Given the description of an element on the screen output the (x, y) to click on. 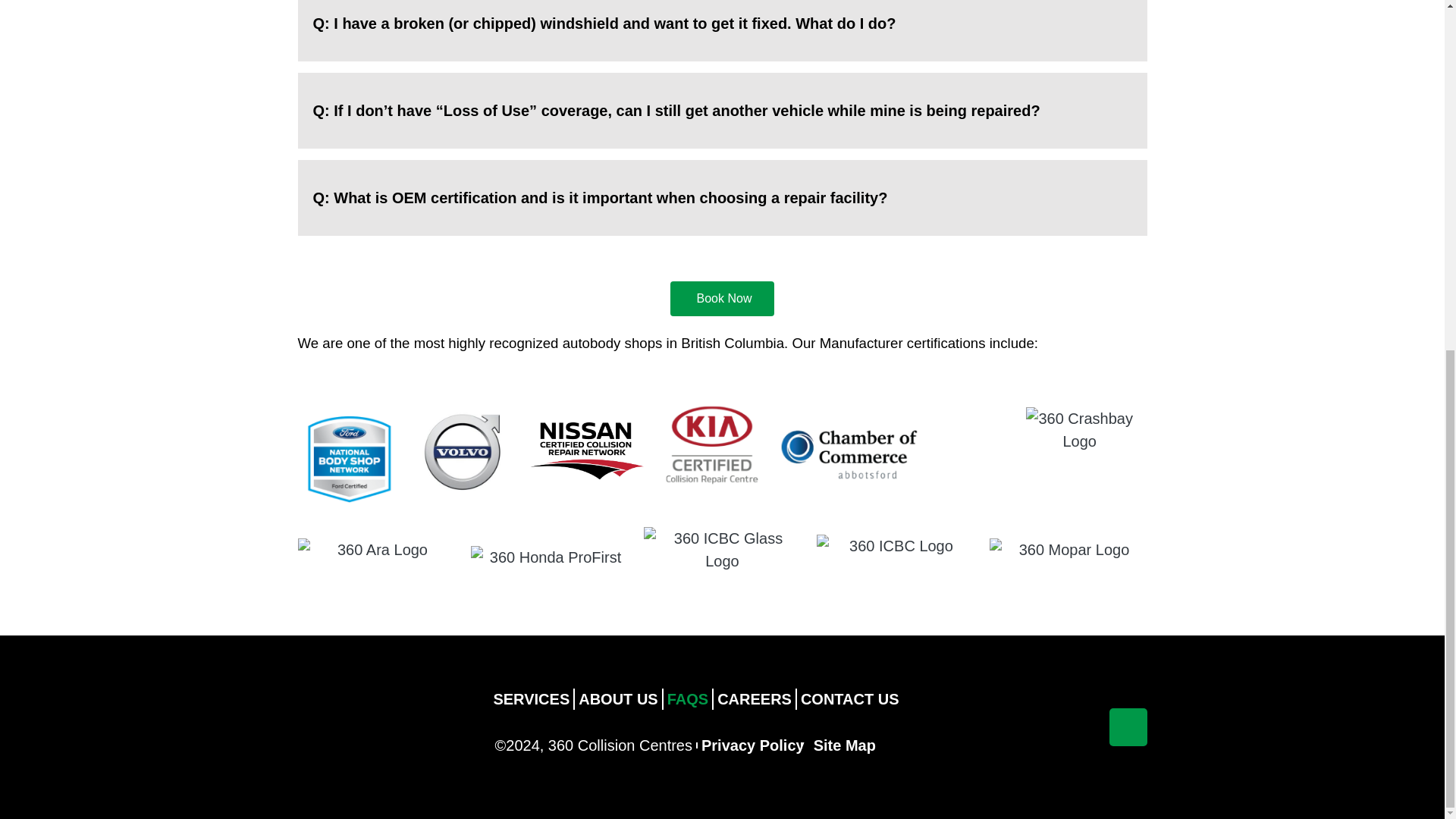
Book Now (721, 298)
ABOUT US (618, 699)
FAQS (687, 699)
SERVICES (531, 699)
CONTACT US (849, 699)
CAREERS (753, 699)
